Given the description of an element on the screen output the (x, y) to click on. 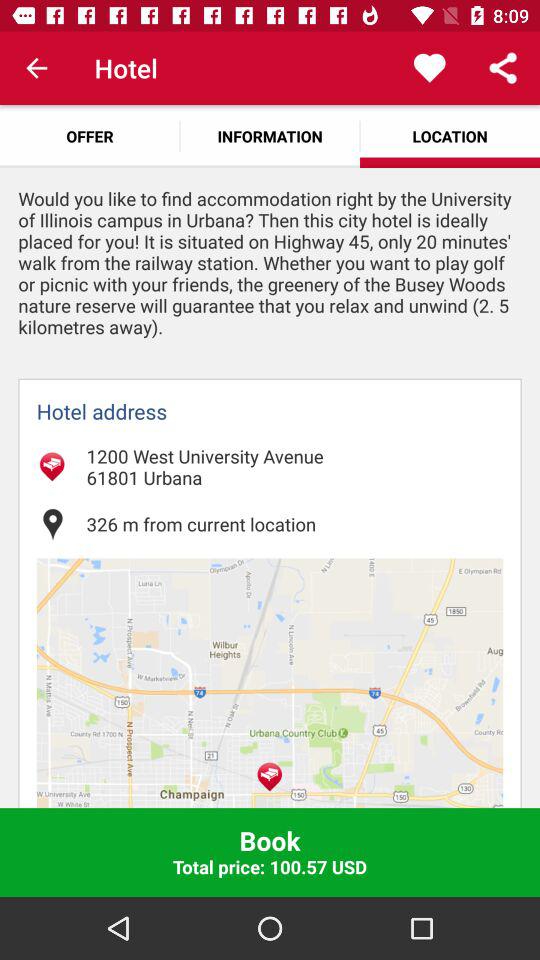
click item next to hotel app (36, 68)
